Given the description of an element on the screen output the (x, y) to click on. 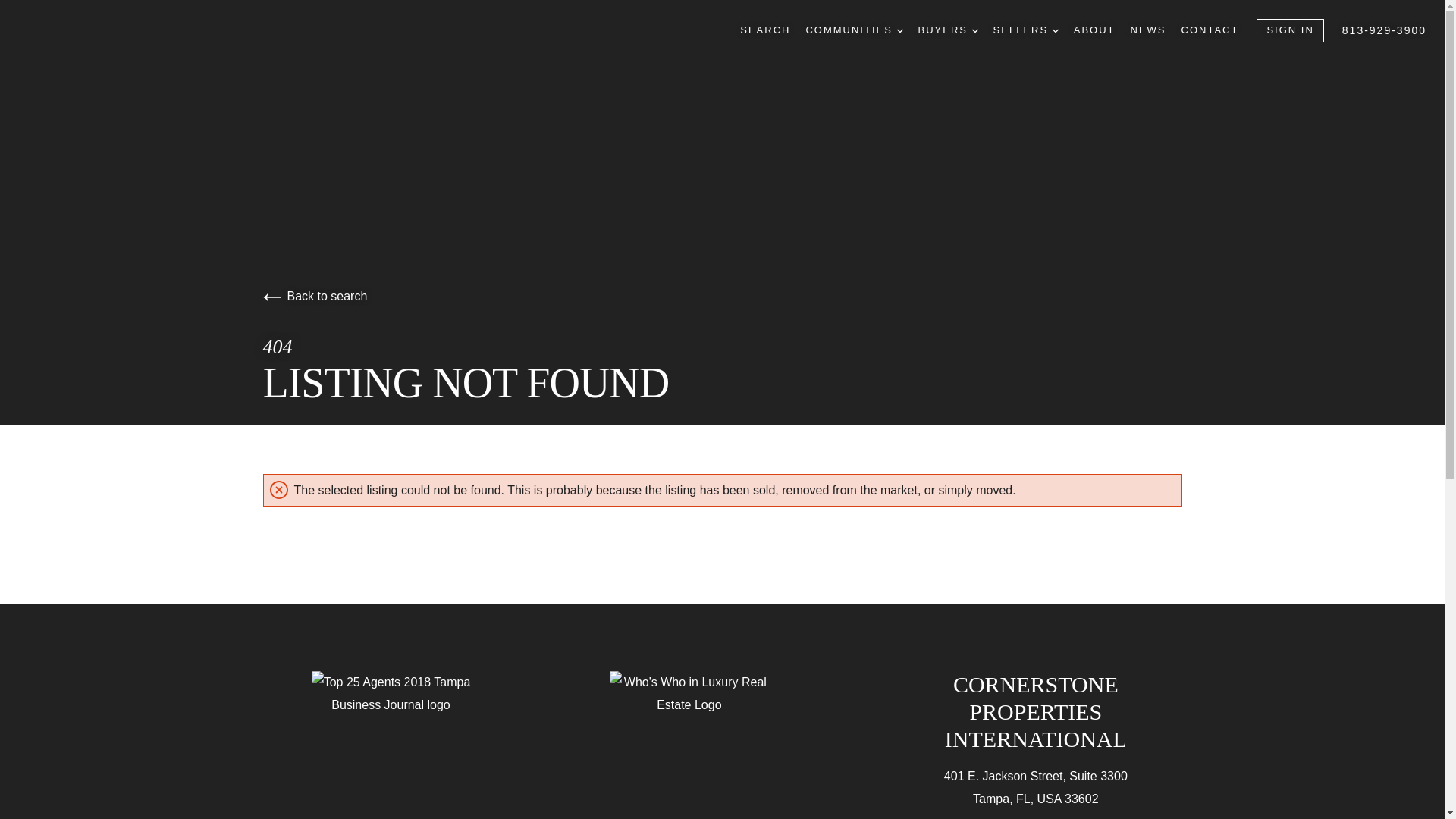
BUYERS DROPDOWN ARROW (946, 30)
DROPDOWN ARROW (975, 30)
DROPDOWN ARROW (1055, 30)
DROPDOWN ARROW (899, 30)
CONTACT (1209, 30)
NEWS (1148, 30)
ABOUT (1094, 30)
COMMUNITIES DROPDOWN ARROW (853, 30)
Back to search (314, 295)
SELLERS DROPDOWN ARROW (1025, 30)
